Given the description of an element on the screen output the (x, y) to click on. 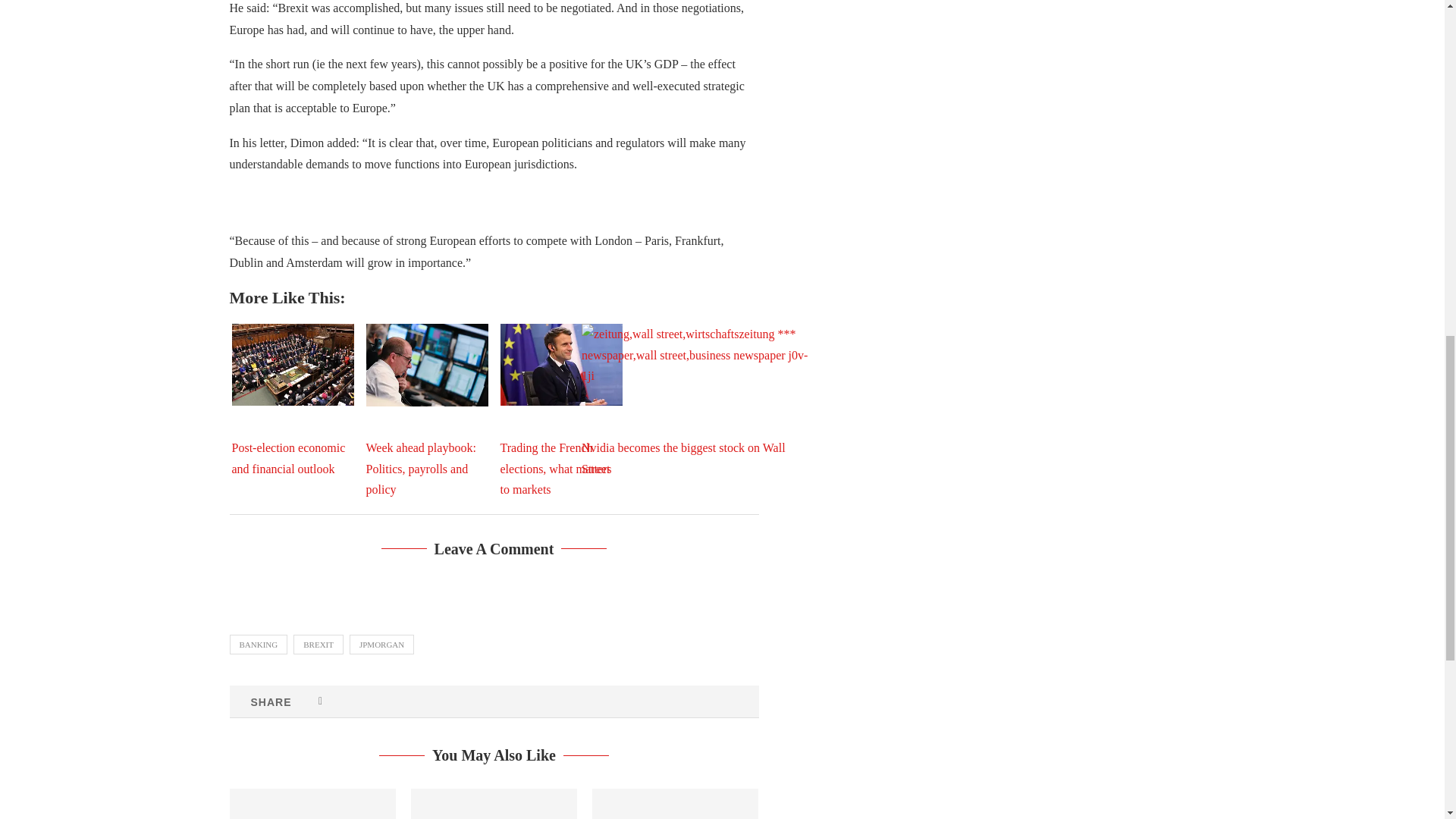
Week ahead playbook: Politics, payrolls and policy (426, 364)
Yen retreats after hitting six week high (493, 803)
Nvidia becomes the biggest stock on Wall Street (694, 399)
Yen reaches multi-month highs ahead of Bank of Japan meeting (311, 803)
Post-election economic and financial outlook (292, 363)
Trading the French elections, what matters to markets (561, 363)
